Given the description of an element on the screen output the (x, y) to click on. 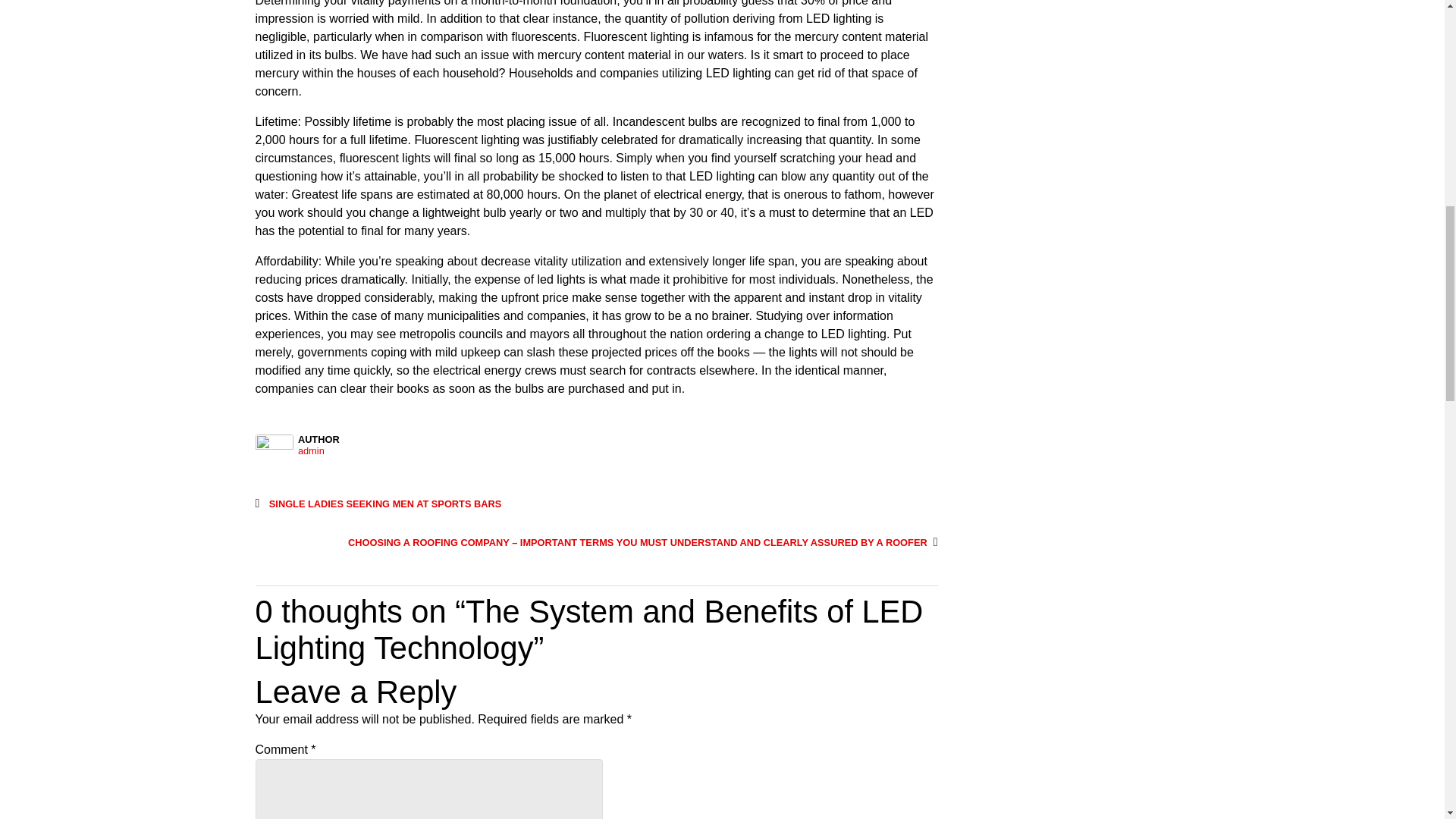
admin (617, 451)
